Given the description of an element on the screen output the (x, y) to click on. 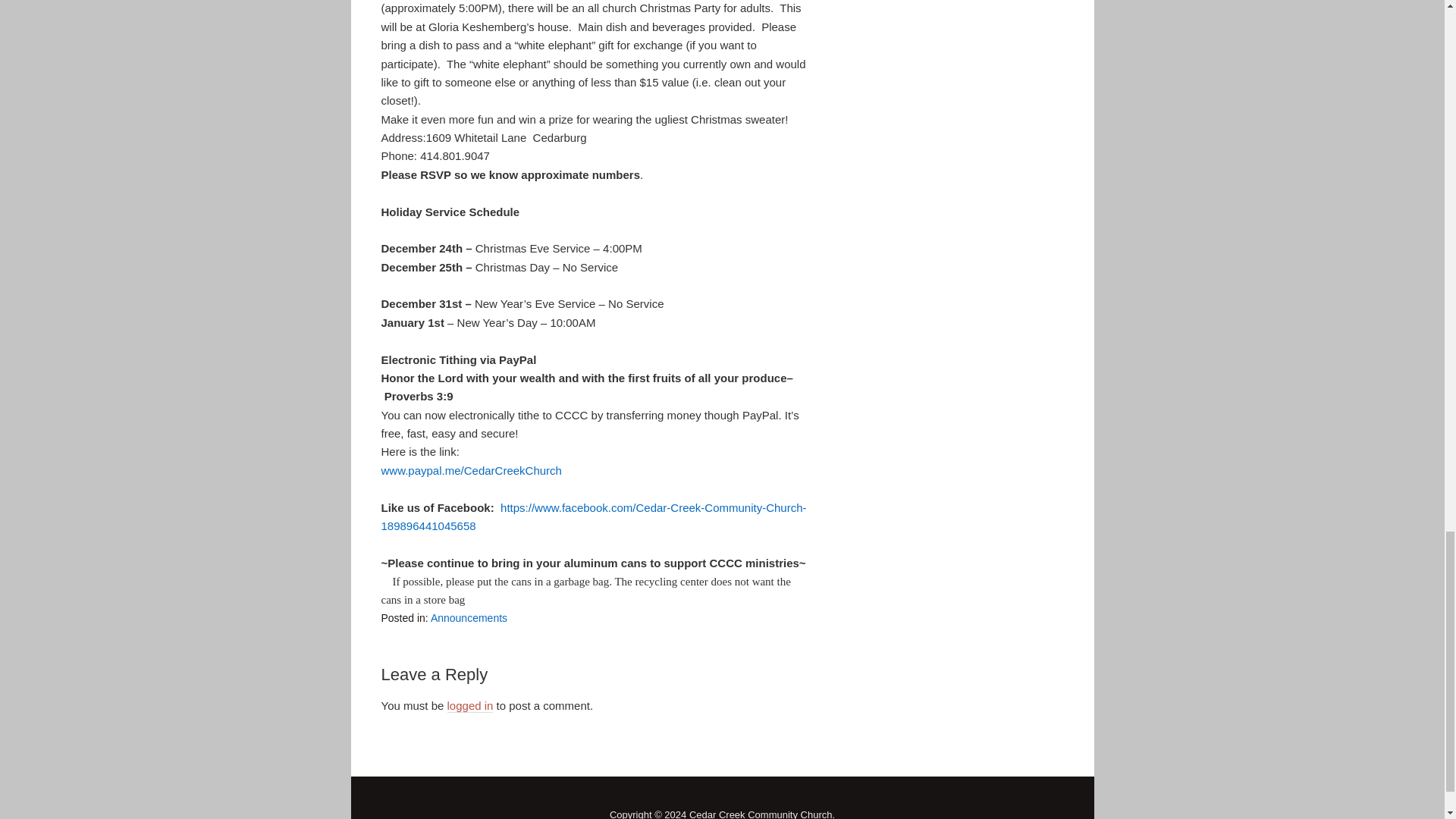
logged in (469, 705)
Announcements (468, 617)
